Given the description of an element on the screen output the (x, y) to click on. 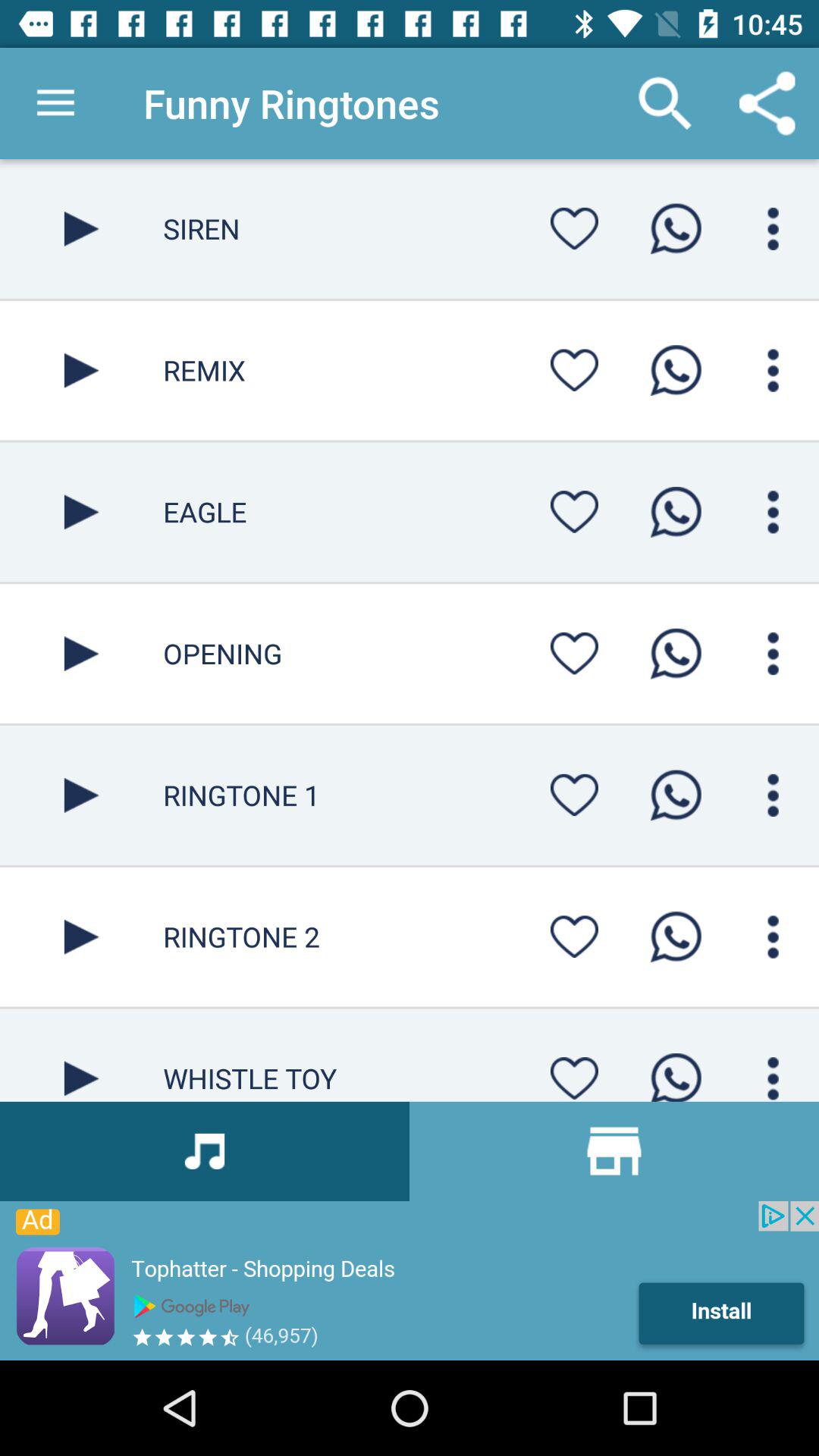
menu (574, 228)
